Given the description of an element on the screen output the (x, y) to click on. 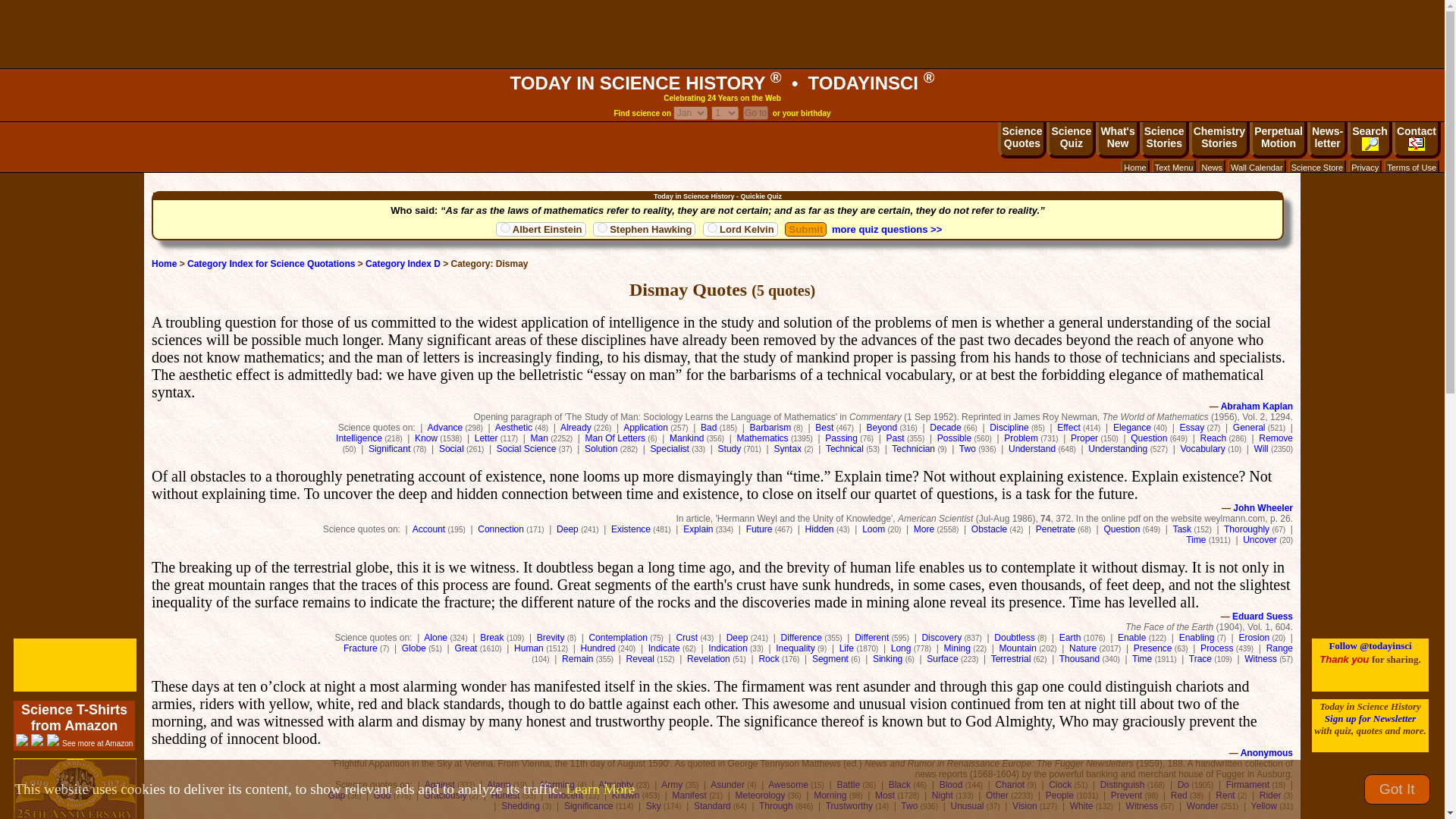
Submit (805, 228)
Contact (1416, 140)
Wall Calendar (1256, 167)
Best (823, 427)
Search (1278, 140)
Our Science Store books and more (1369, 140)
Elegance (1316, 167)
Our latest articles and pages (1132, 427)
